Given the description of an element on the screen output the (x, y) to click on. 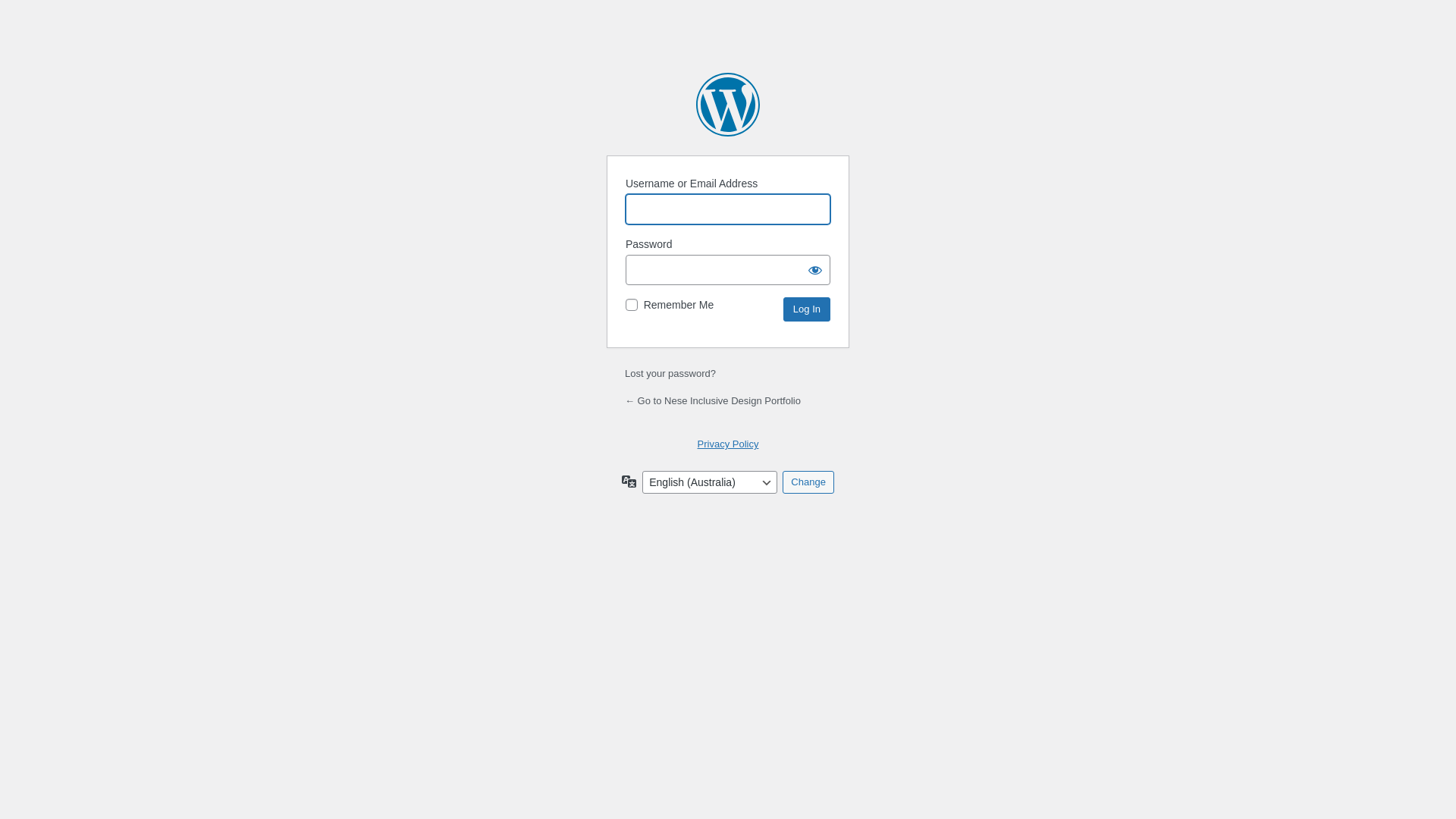
Powered by WordPress Element type: text (727, 104)
Log In Element type: text (806, 309)
Change Element type: text (808, 481)
Privacy Policy Element type: text (728, 443)
Lost your password? Element type: text (669, 373)
